Given the description of an element on the screen output the (x, y) to click on. 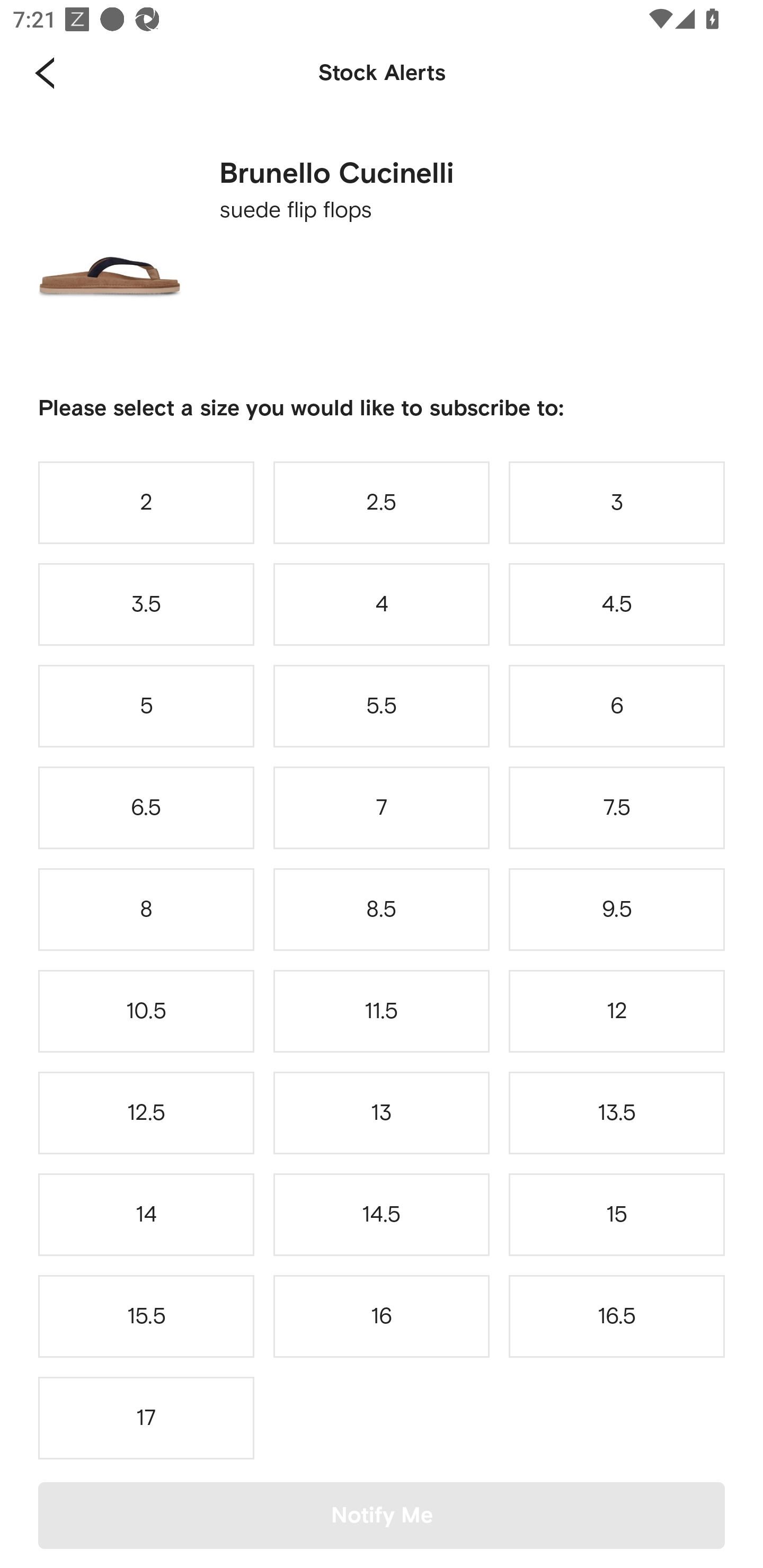
2 (146, 502)
2.5 (381, 502)
3 (616, 502)
3.5 (146, 604)
4 (381, 604)
4.5 (616, 604)
5 (146, 705)
5.5 (381, 705)
6 (616, 705)
6.5 (146, 807)
7 (381, 807)
7.5 (616, 807)
8 (146, 909)
8.5 (381, 909)
9.5 (616, 909)
10.5 (146, 1011)
11.5 (381, 1011)
12 (616, 1011)
12.5 (146, 1112)
13 (381, 1112)
13.5 (616, 1112)
14 (146, 1213)
14.5 (381, 1213)
15 (616, 1213)
15.5 (146, 1315)
16 (381, 1315)
16.5 (616, 1315)
17 (146, 1417)
Notify Me (381, 1515)
